Given the description of an element on the screen output the (x, y) to click on. 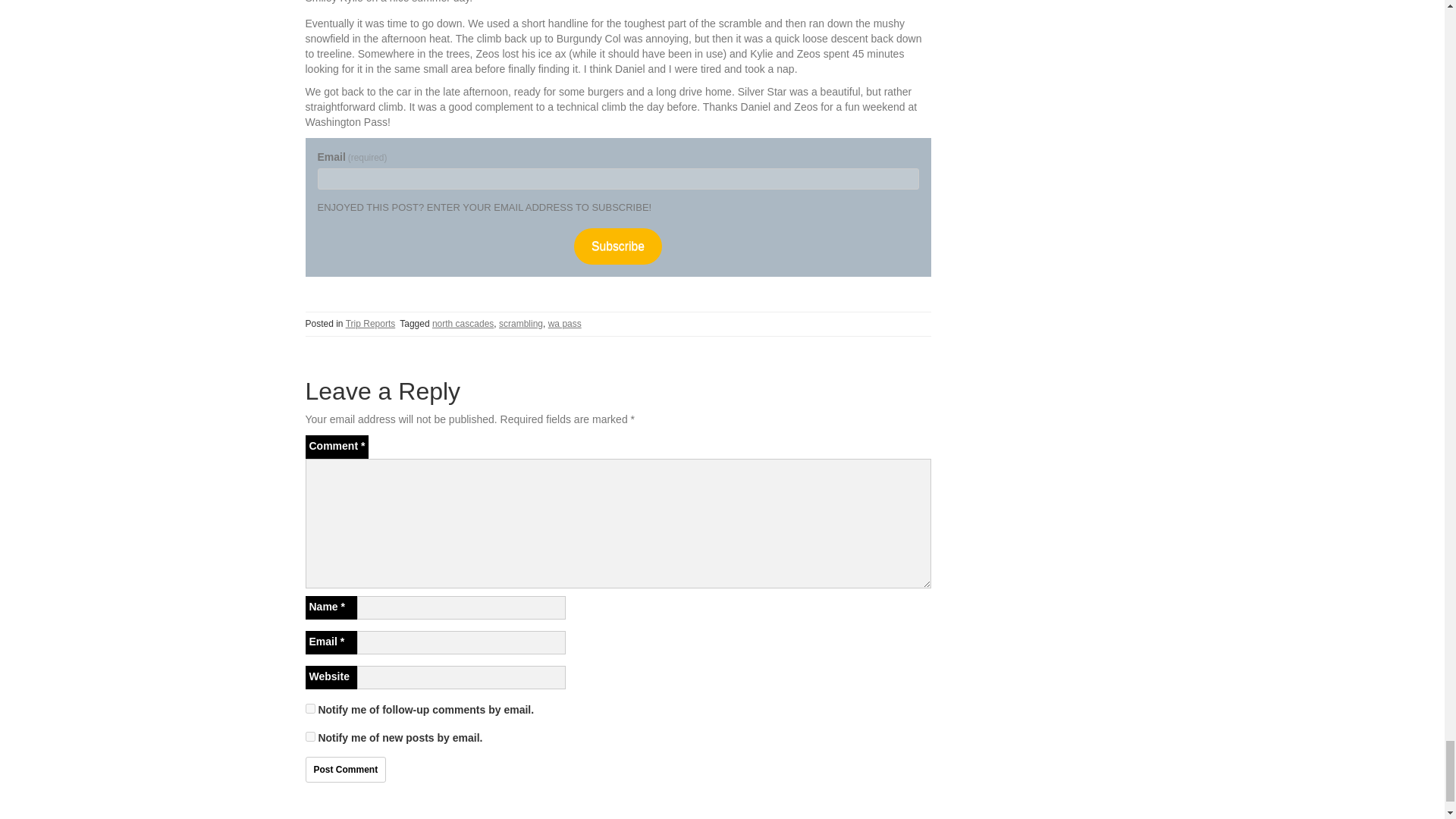
north cascades (462, 323)
subscribe (309, 708)
subscribe (309, 737)
Subscribe (617, 245)
Trip Reports (371, 323)
Post Comment (344, 769)
wa pass (564, 323)
scrambling (521, 323)
Post Comment (344, 769)
